Given the description of an element on the screen output the (x, y) to click on. 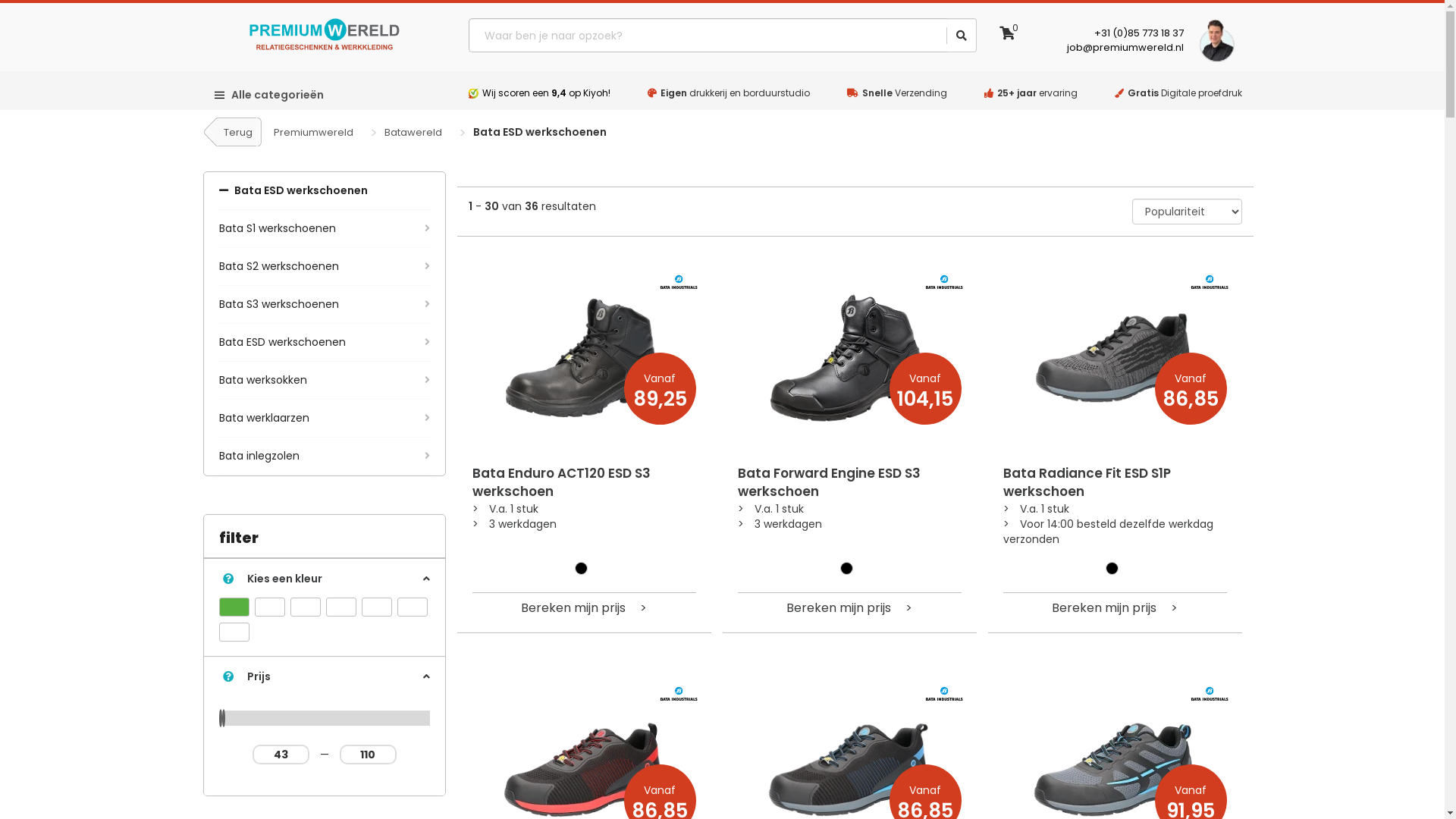
Bata S1 werkschoenen Element type: text (323, 228)
Bata ESD werkschoenen Element type: text (323, 341)
divider Element type: hover (946, 35)
Terug Element type: text (233, 131)
Bata werksokken Element type: text (323, 379)
Wij scoren een 9,4 op Kiyoh! Element type: text (546, 92)
+31 (0)85 773 18 37 Element type: text (1138, 32)
Bata S2 werkschoenen Element type: text (323, 266)
Premiumwereld Element type: text (312, 131)
Bata inlegzolen Element type: text (323, 455)
Batawereld Element type: text (412, 131)
job@premiumwereld.nl Element type: text (1124, 47)
Bata S3 werkschoenen Element type: text (323, 304)
Bata werklaarzen Element type: text (323, 417)
